Given the description of an element on the screen output the (x, y) to click on. 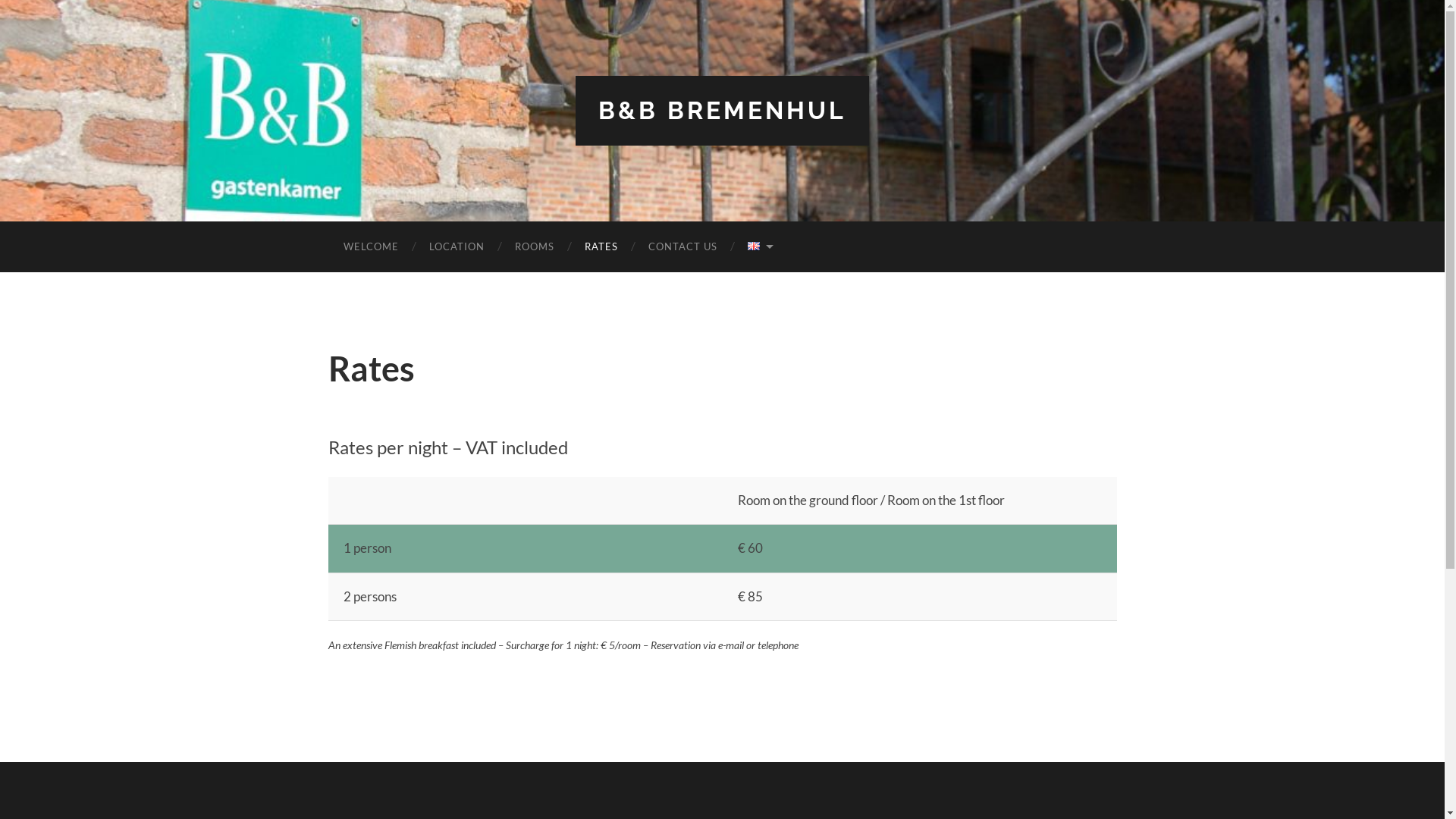
CONTACT US Element type: text (681, 246)
LOCATION Element type: text (456, 246)
B&B BREMENHUL Element type: text (722, 110)
ROOMS Element type: text (533, 246)
WELCOME Element type: text (370, 246)
RATES Element type: text (600, 246)
English Element type: hover (753, 245)
